Given the description of an element on the screen output the (x, y) to click on. 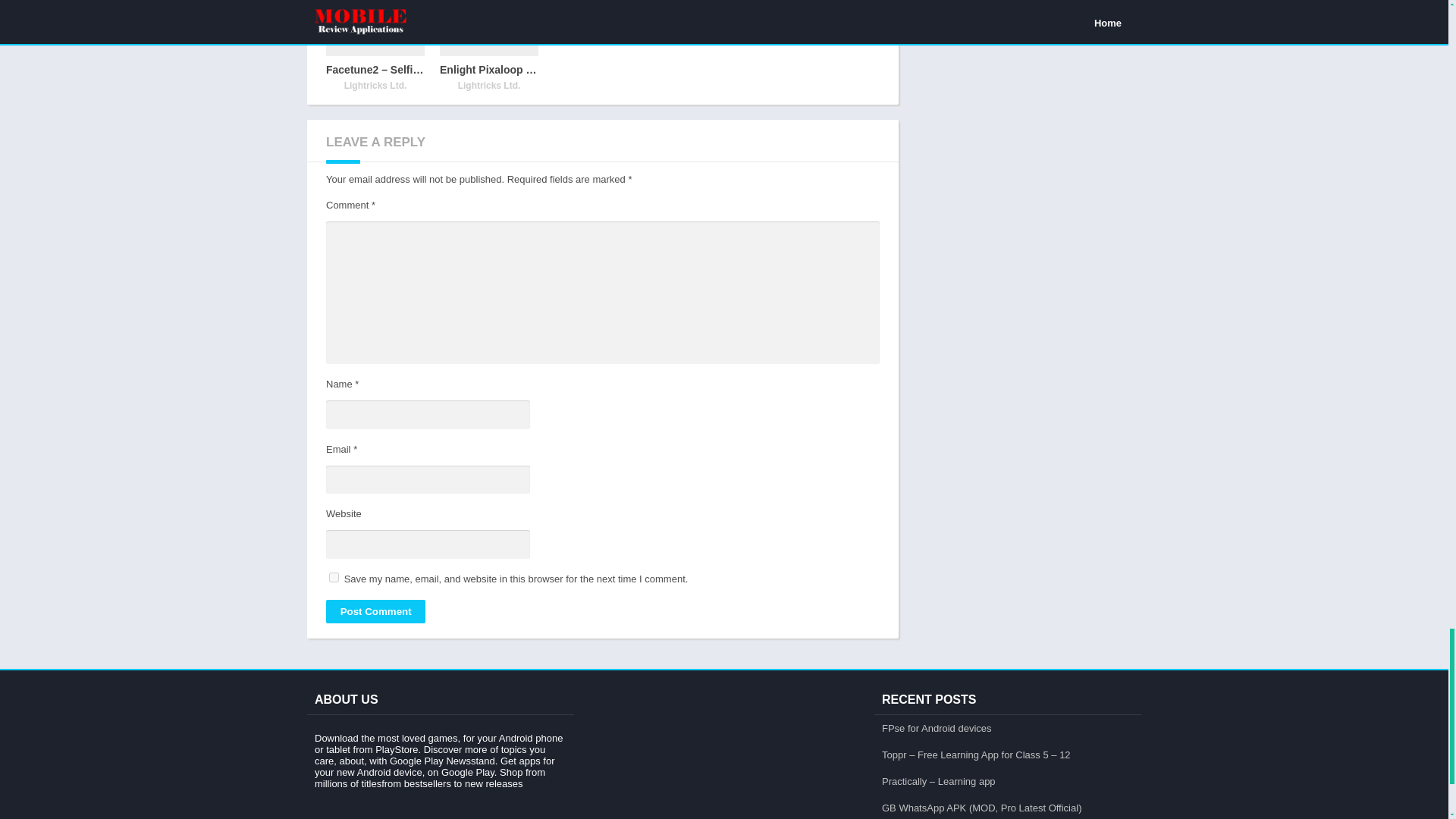
Post Comment (375, 611)
yes (334, 577)
Post Comment (375, 611)
